Given the description of an element on the screen output the (x, y) to click on. 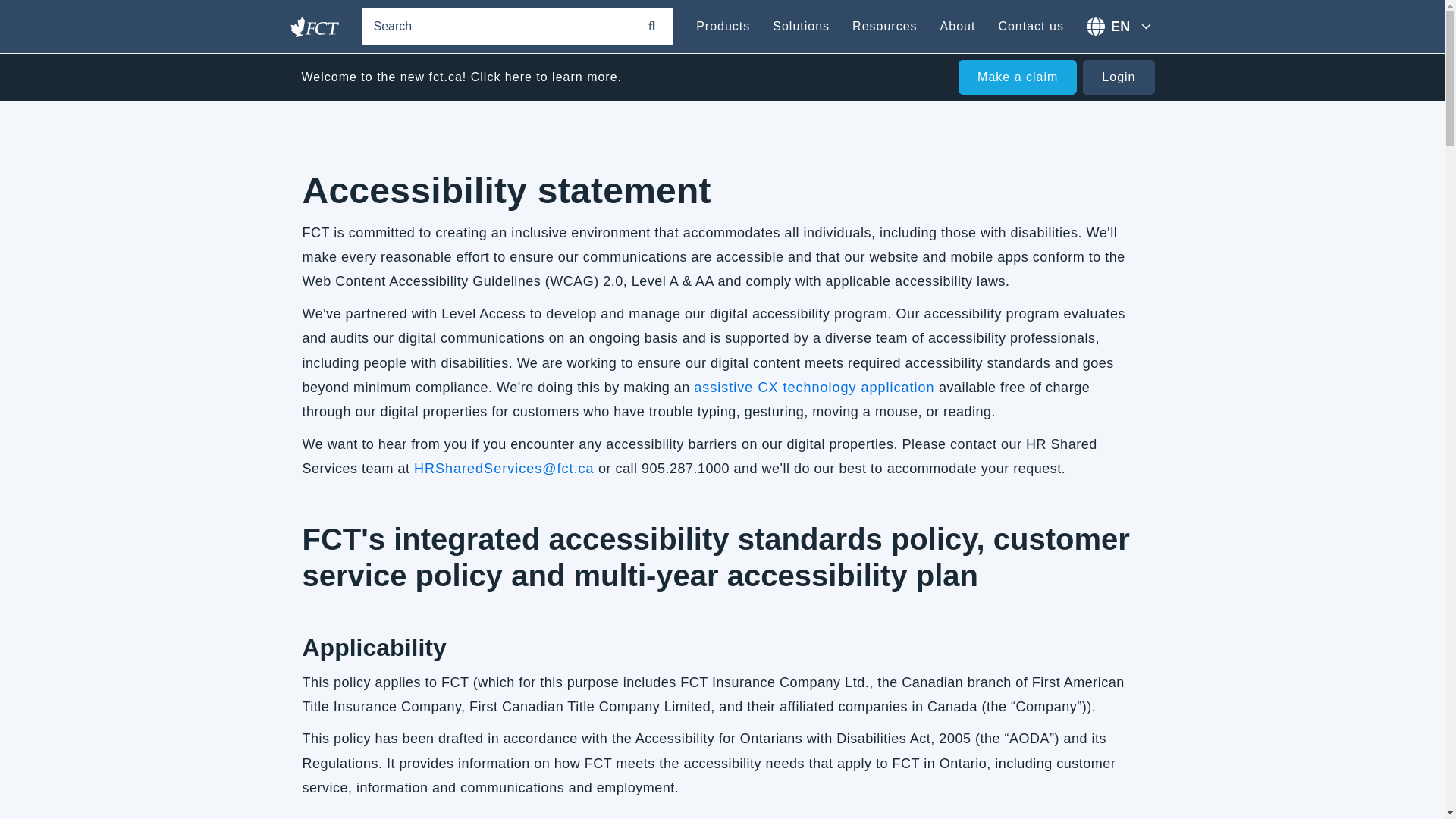
Resources (884, 26)
Solutions (801, 26)
Products (722, 26)
About (957, 26)
Contact us (1029, 26)
